Given the description of an element on the screen output the (x, y) to click on. 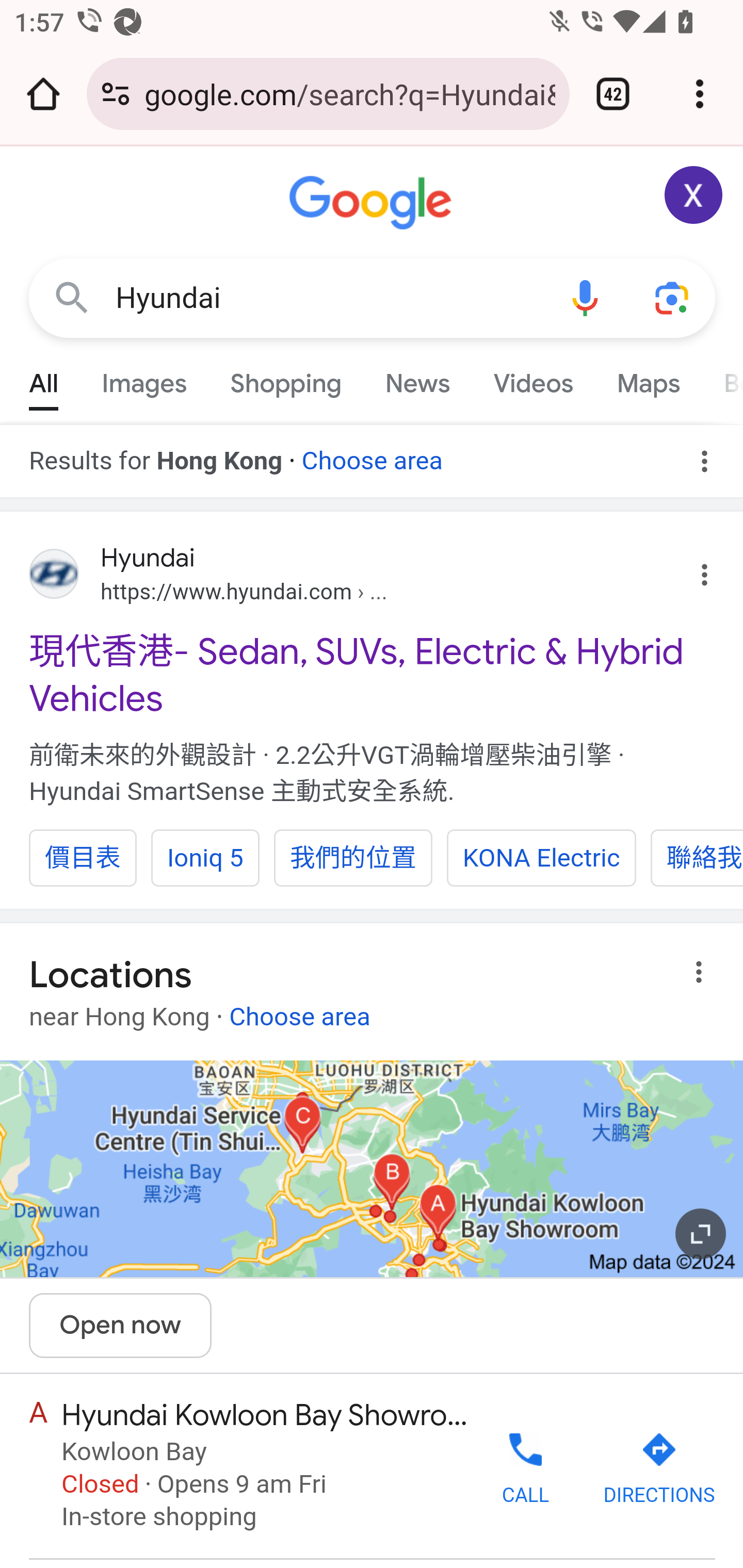
Open the home page (43, 93)
Connection is secure (115, 93)
Switch or close tabs (612, 93)
Customize and control Google Chrome (699, 93)
Google (372, 203)
Google Account: Xiaoran (zxrappiumtest@gmail.com) (694, 195)
Google Search (71, 296)
Search using your camera or photos (672, 296)
Hyundai (328, 297)
Images (144, 378)
Shopping (285, 378)
News (417, 378)
Videos (533, 378)
Maps (647, 378)
Choose area (371, 453)
現代香港- Sedan, SUVs, Electric & Hybrid Vehicles (372, 674)
價目表 (82, 857)
Ioniq 5 (204, 857)
我們的位置 (352, 857)
KONA Electric (541, 857)
聯絡我們 (696, 857)
About this result (702, 971)
Choose area (299, 1009)
Map of Hyundai (371, 1168)
Open now (120, 1325)
CALL (525, 1466)
DIRECTIONS (658, 1469)
